Given the description of an element on the screen output the (x, y) to click on. 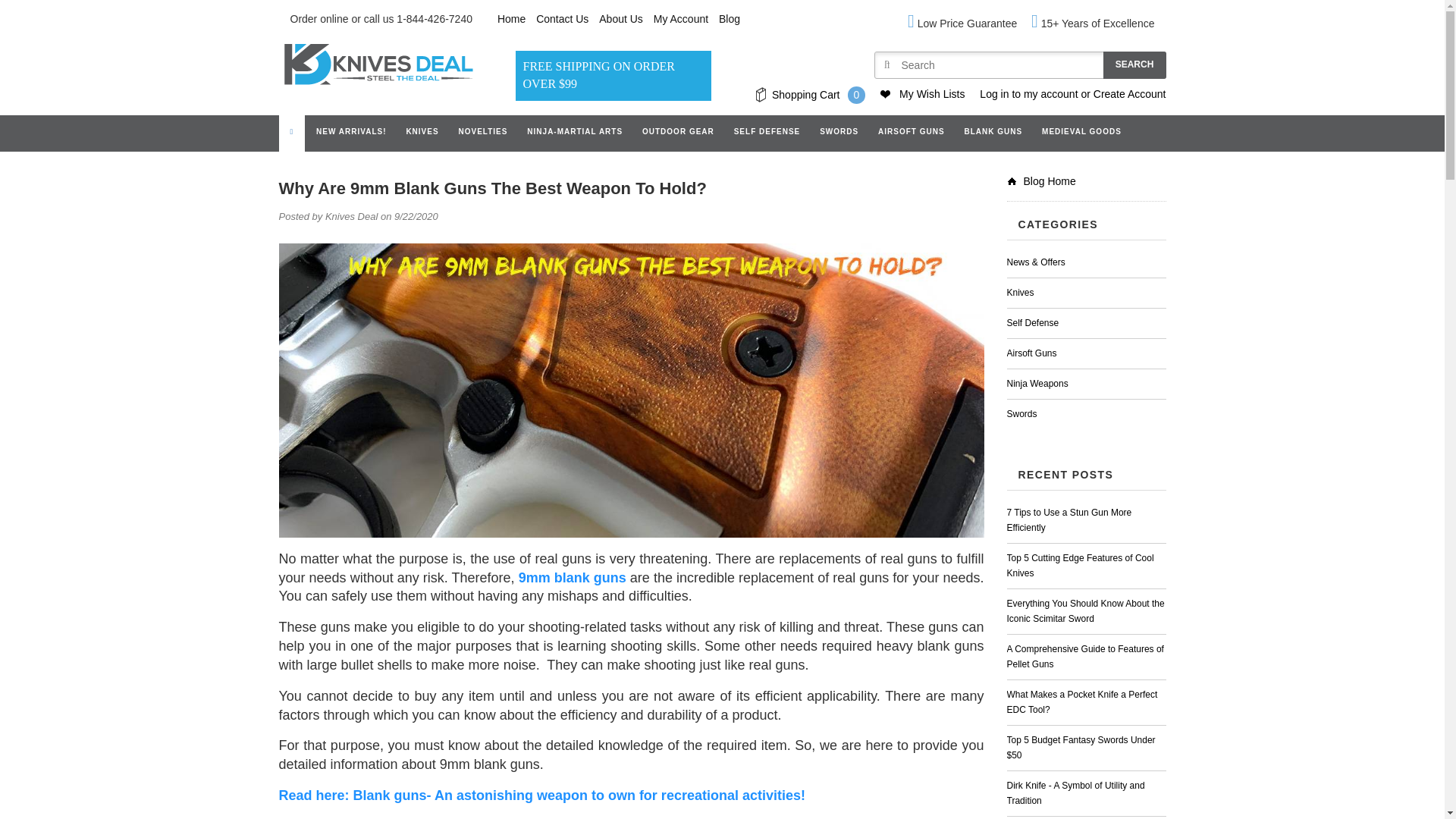
NEW ARRIVALS! (350, 132)
Contact Us (561, 19)
Home (511, 19)
Blog (729, 19)
SEARCH (1134, 64)
My Wish Lists (931, 93)
NOVELTIES (483, 132)
Knives Deal (376, 64)
About Us (620, 19)
Shopping Cart0 (809, 95)
KNIVES (422, 132)
My Account (680, 19)
Log in to my account (1028, 93)
Create Account (1129, 93)
